Given the description of an element on the screen output the (x, y) to click on. 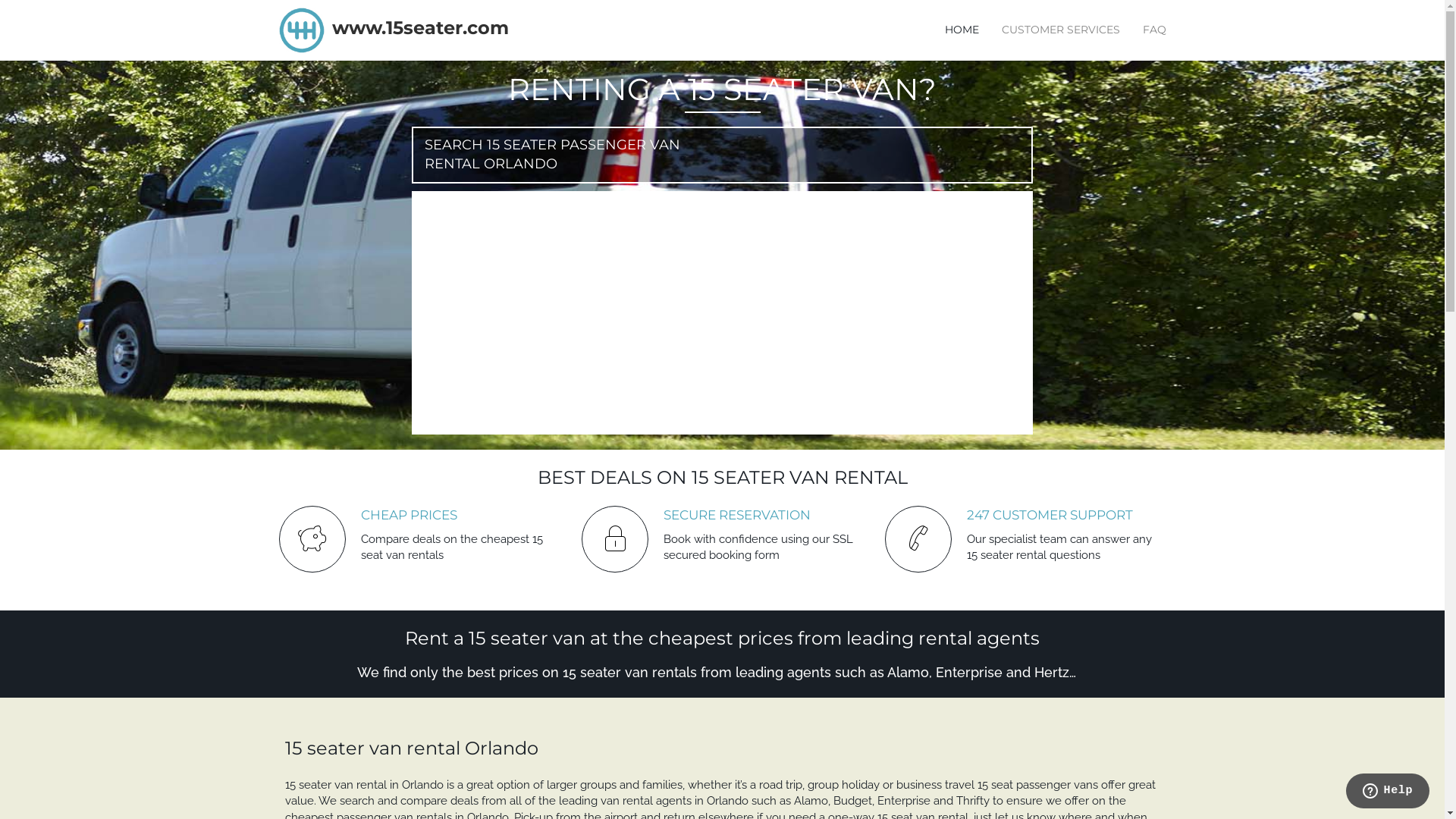
HOME Element type: text (961, 29)
www.15seater.com Element type: text (420, 27)
CUSTOMER SERVICES Element type: text (1060, 29)
Opens a widget where you can chat to one of our agents Element type: hover (1387, 792)
FAQ Element type: text (1153, 29)
